Given the description of an element on the screen output the (x, y) to click on. 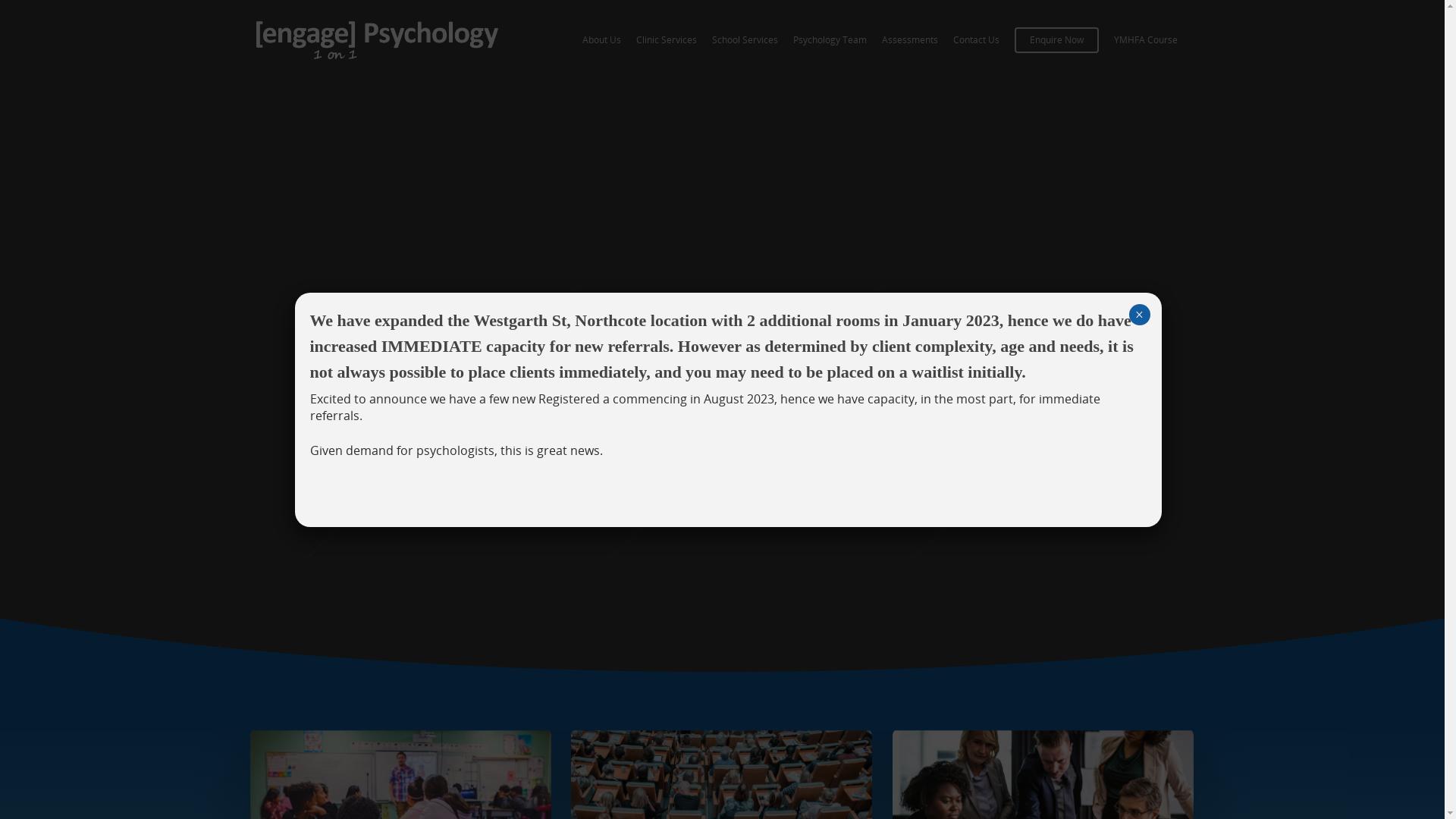
Enquire Now Element type: text (1056, 39)
About Us Element type: text (601, 39)
YMHFA Course Element type: text (1144, 39)
Assessments Element type: text (909, 39)
Clinic Services Element type: text (665, 39)
School Services Element type: text (744, 39)
Contact Us Element type: text (975, 39)
Psychology Team Element type: text (829, 39)
